Given the description of an element on the screen output the (x, y) to click on. 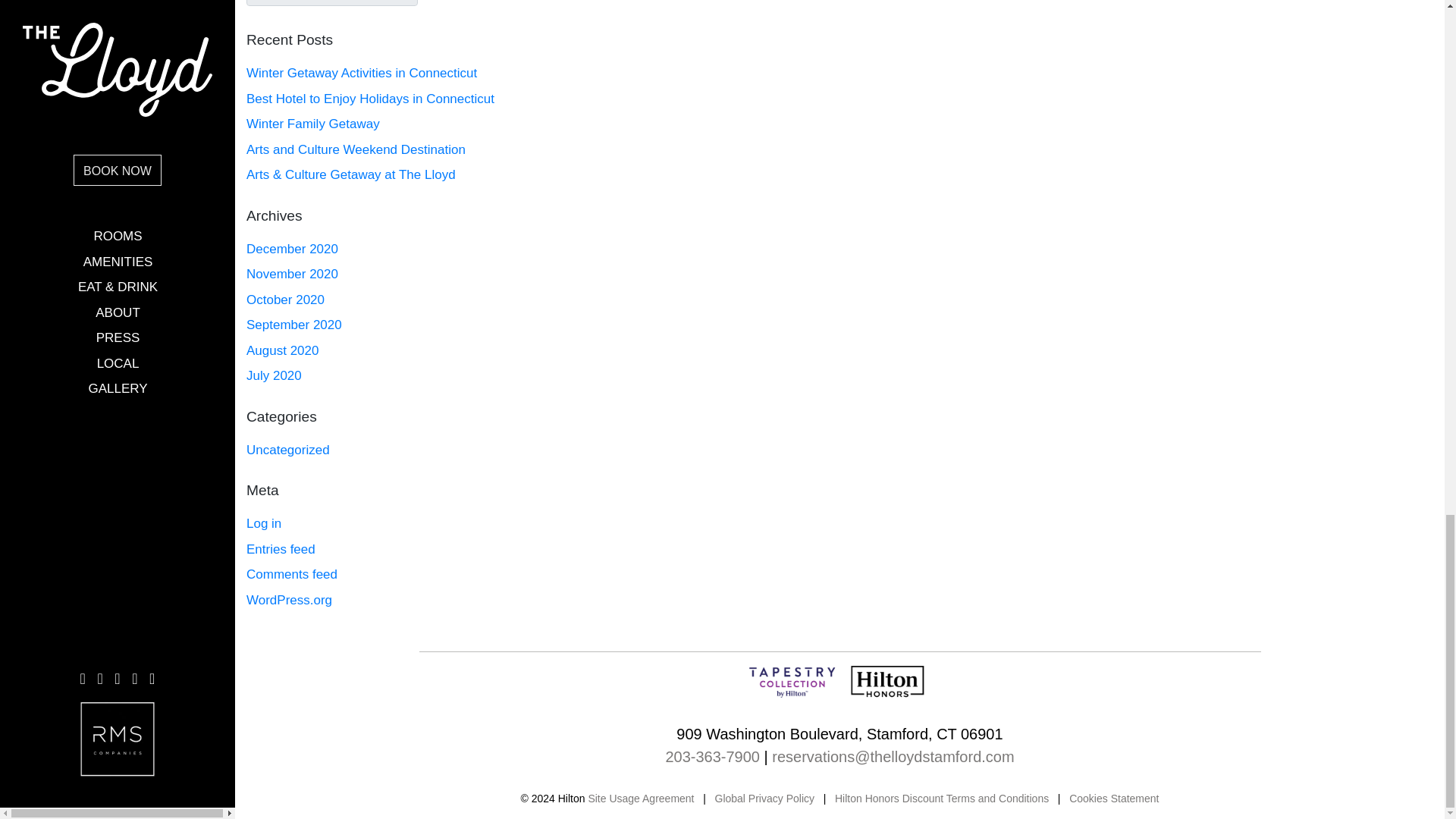
Best Hotel to Enjoy Holidays in Connecticut (436, 99)
October 2020 (436, 299)
August 2020 (436, 350)
November 2020 (436, 274)
December 2020 (436, 249)
Winter Family Getaway (436, 124)
September 2020 (436, 325)
July 2020 (436, 376)
Winter Getaway Activities in Connecticut (436, 73)
Search for: (331, 2)
